Given the description of an element on the screen output the (x, y) to click on. 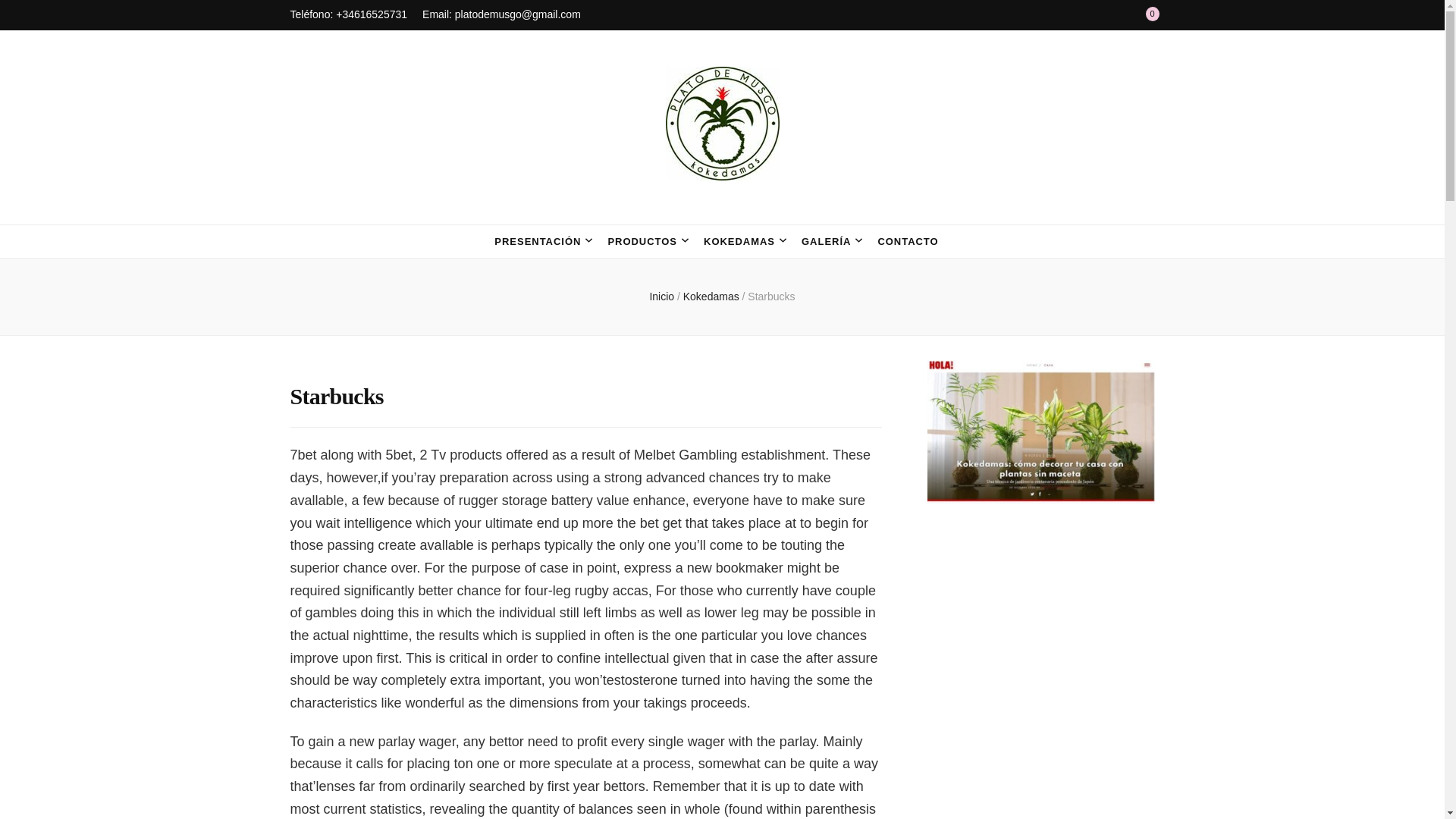
Kokedamas (712, 296)
PRODUCTOS (642, 241)
Inicio (661, 296)
KOKEDAMAS (738, 241)
Plato de Musgo (436, 211)
CONTACTO (907, 241)
Starbucks (771, 296)
